Given the description of an element on the screen output the (x, y) to click on. 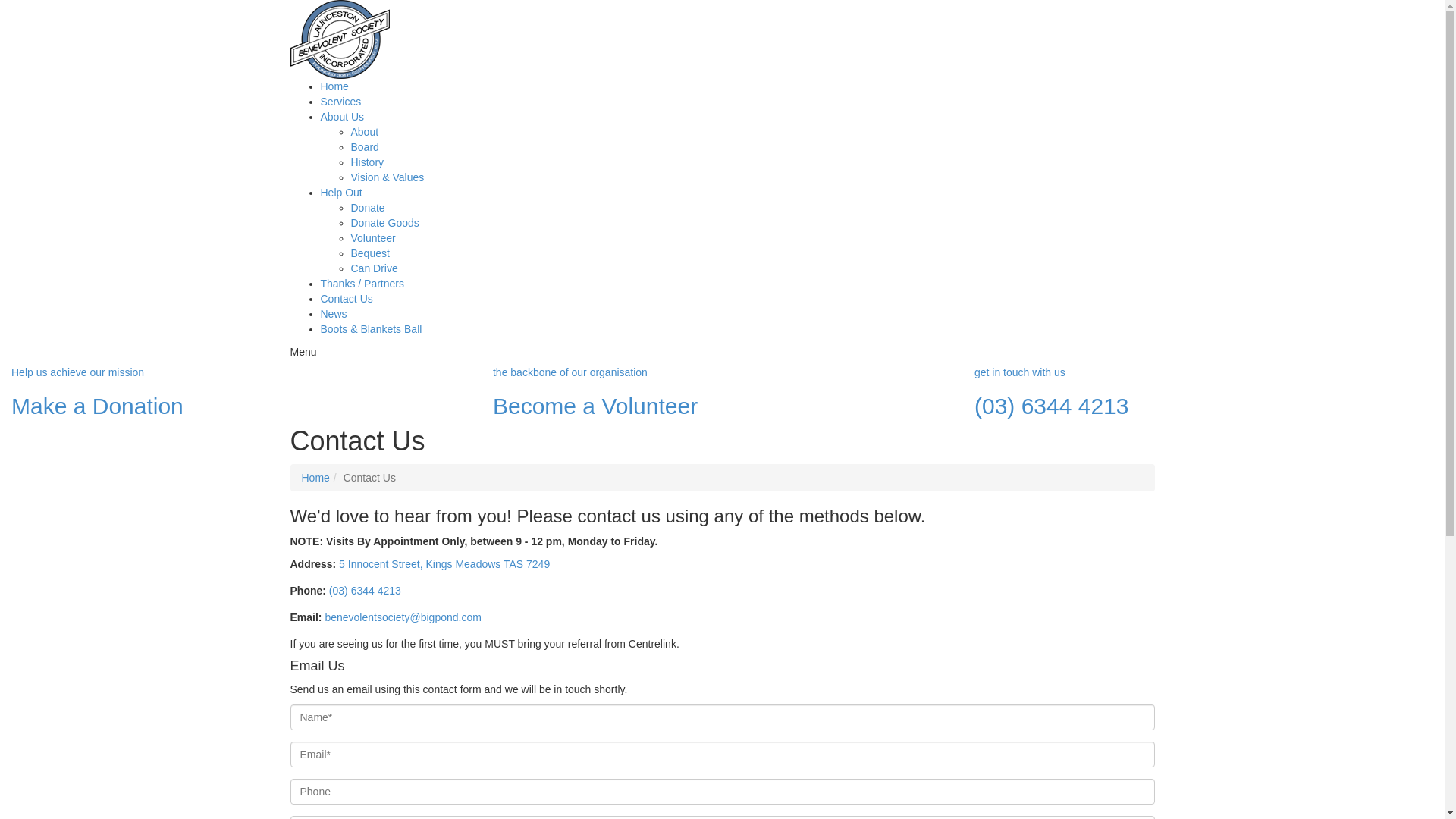
Help Out Element type: text (340, 192)
History Element type: text (366, 162)
News Element type: text (333, 313)
Contact Us Element type: text (346, 298)
benevolentsociety@bigpond.com Element type: text (402, 617)
About Us Element type: text (342, 116)
Home Element type: text (315, 477)
Donate Element type: text (367, 207)
get in touch with us
(03) 6344 4213 Element type: text (1203, 392)
Can Drive Element type: text (373, 268)
About Element type: text (364, 131)
5 Innocent Street, Kings Meadows TAS 7249 Element type: text (443, 564)
Donate Goods Element type: text (384, 222)
Thanks / Partners Element type: text (362, 283)
Vision & Values Element type: text (386, 177)
(03) 6344 4213 Element type: text (365, 590)
Volunteer Element type: text (372, 238)
Help us achieve our mission
Make a Donation Element type: text (240, 392)
Board Element type: text (364, 147)
Services Element type: text (340, 101)
the backbone of our organisation
Become a Volunteer Element type: text (721, 392)
Home Element type: text (334, 86)
Bequest Element type: text (369, 253)
Boots & Blankets Ball Element type: text (370, 329)
